Given the description of an element on the screen output the (x, y) to click on. 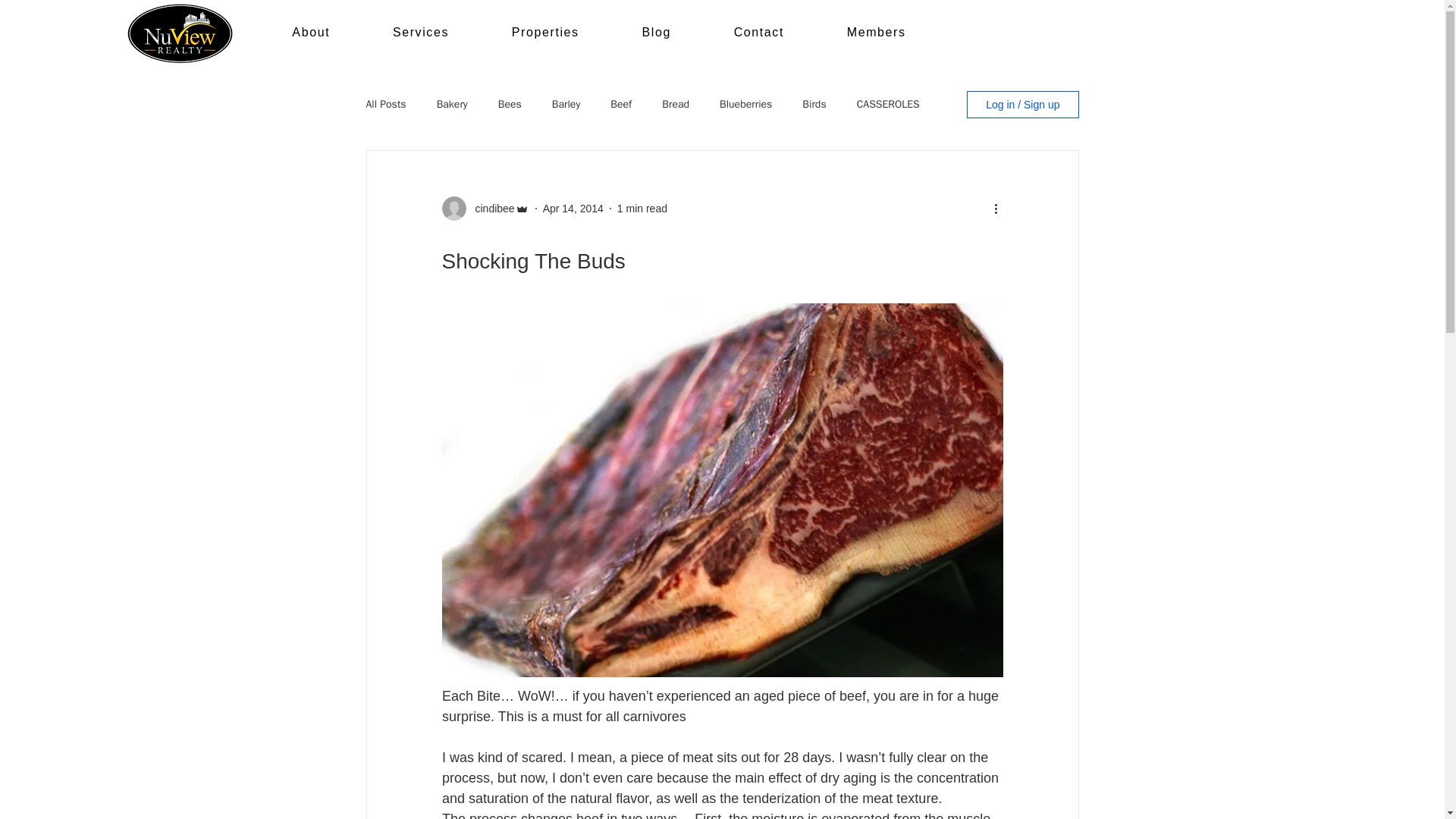
CASSEROLES (888, 104)
About (310, 32)
Bread (675, 104)
Apr 14, 2014 (573, 207)
Properties (545, 32)
All Posts (385, 104)
Bees (509, 104)
Bakery (451, 104)
1 min read (641, 207)
Beef (620, 104)
Birds (813, 104)
cindibee (489, 207)
Blog (598, 32)
Barley (655, 32)
